Given the description of an element on the screen output the (x, y) to click on. 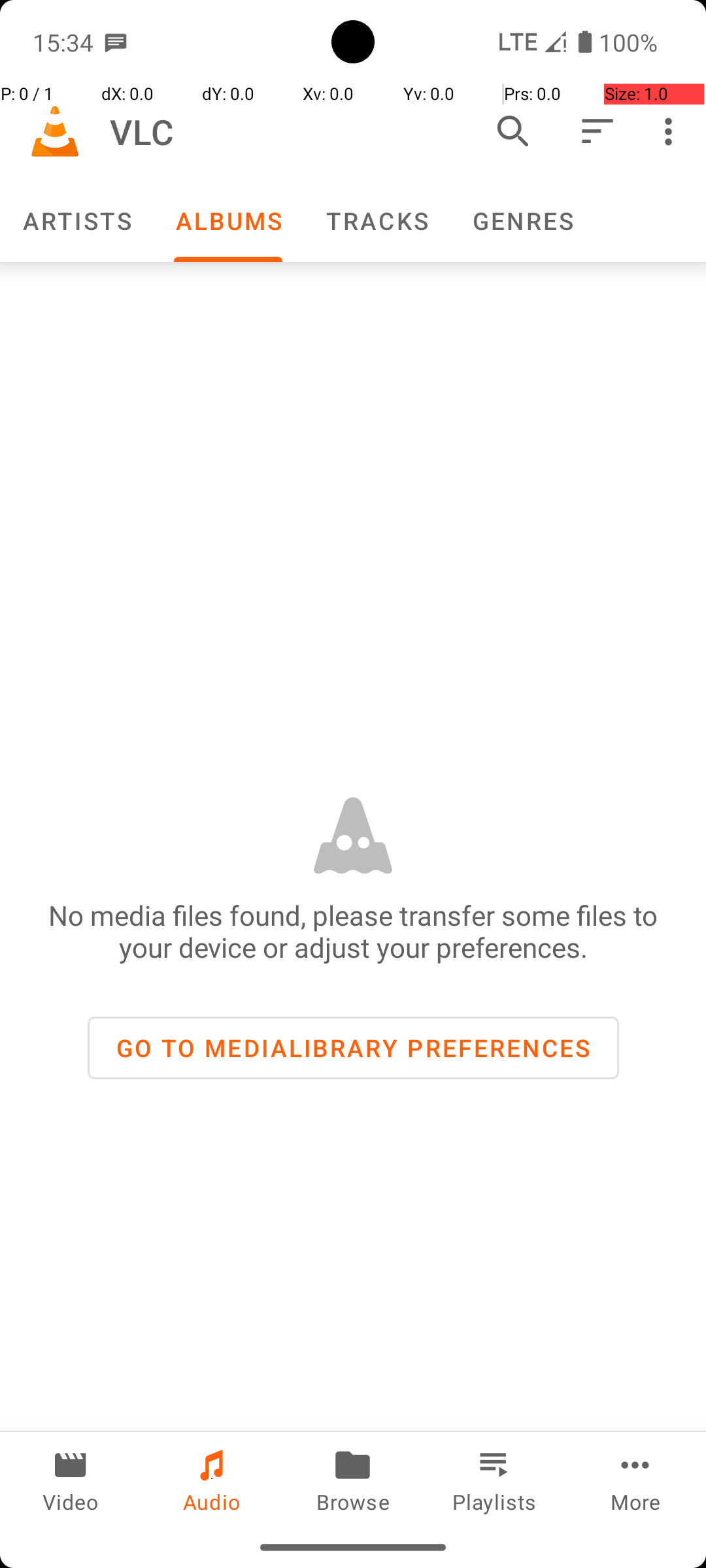
GO TO MEDIALIBRARY PREFERENCES Element type: android.widget.Button (353, 1047)
